Given the description of an element on the screen output the (x, y) to click on. 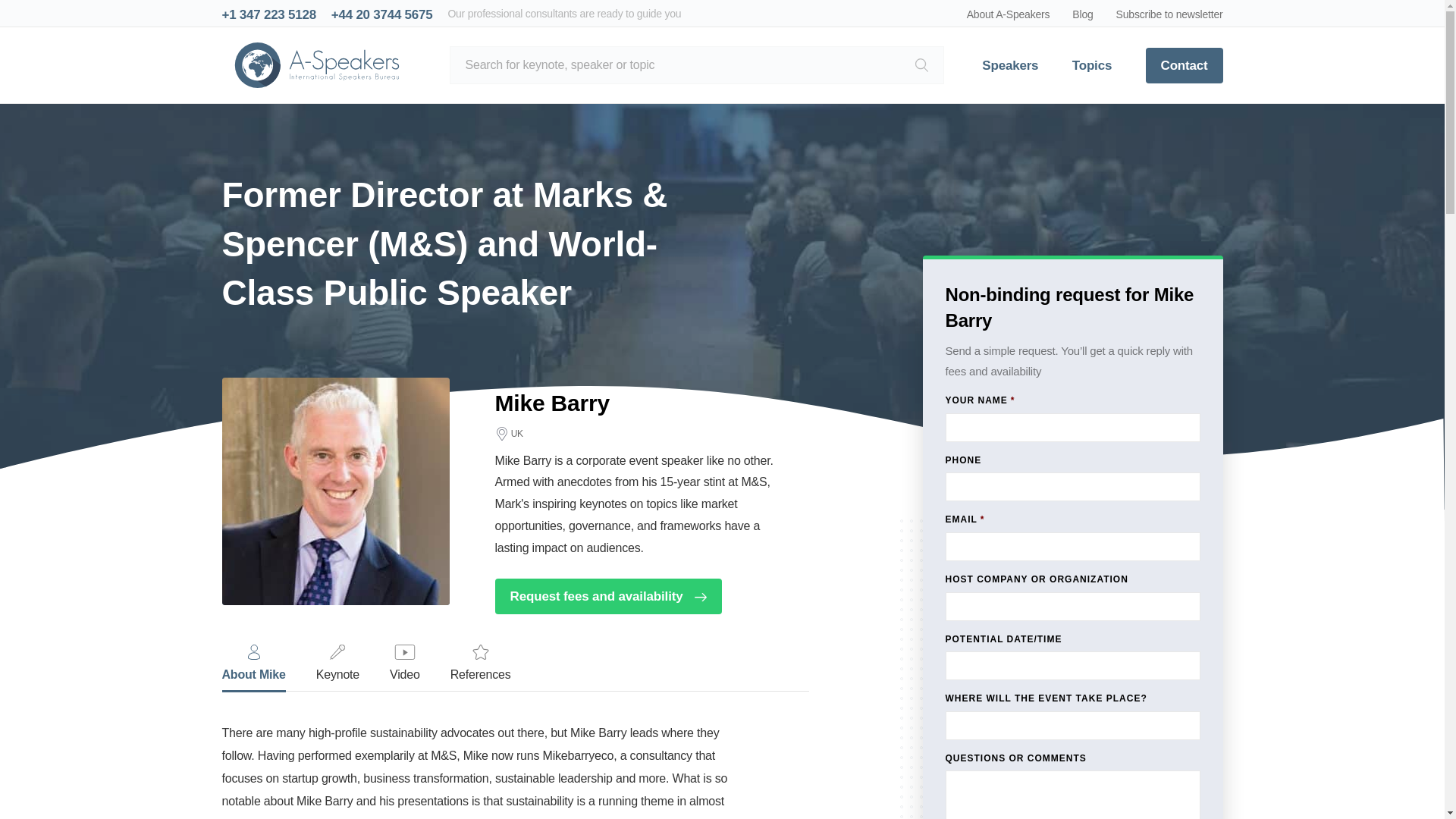
Blog (1082, 14)
About A-Speakers (1007, 14)
Speakers (1009, 65)
Subscribe to newsletter (1169, 14)
Request fees and availability (607, 596)
Topics (1091, 65)
Contact (1184, 65)
